Given the description of an element on the screen output the (x, y) to click on. 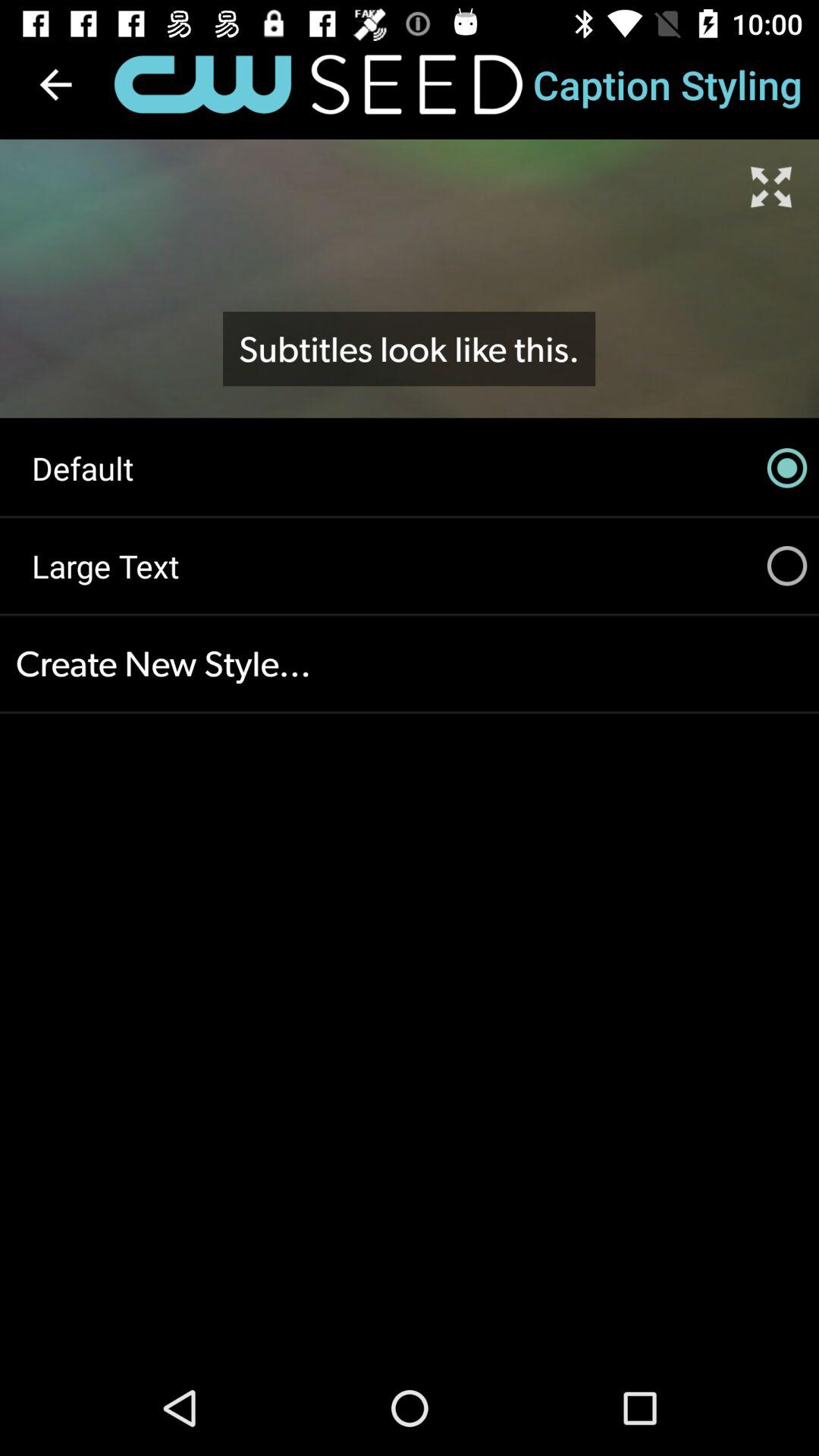
launch icon below the subtitles look like (409, 467)
